Given the description of an element on the screen output the (x, y) to click on. 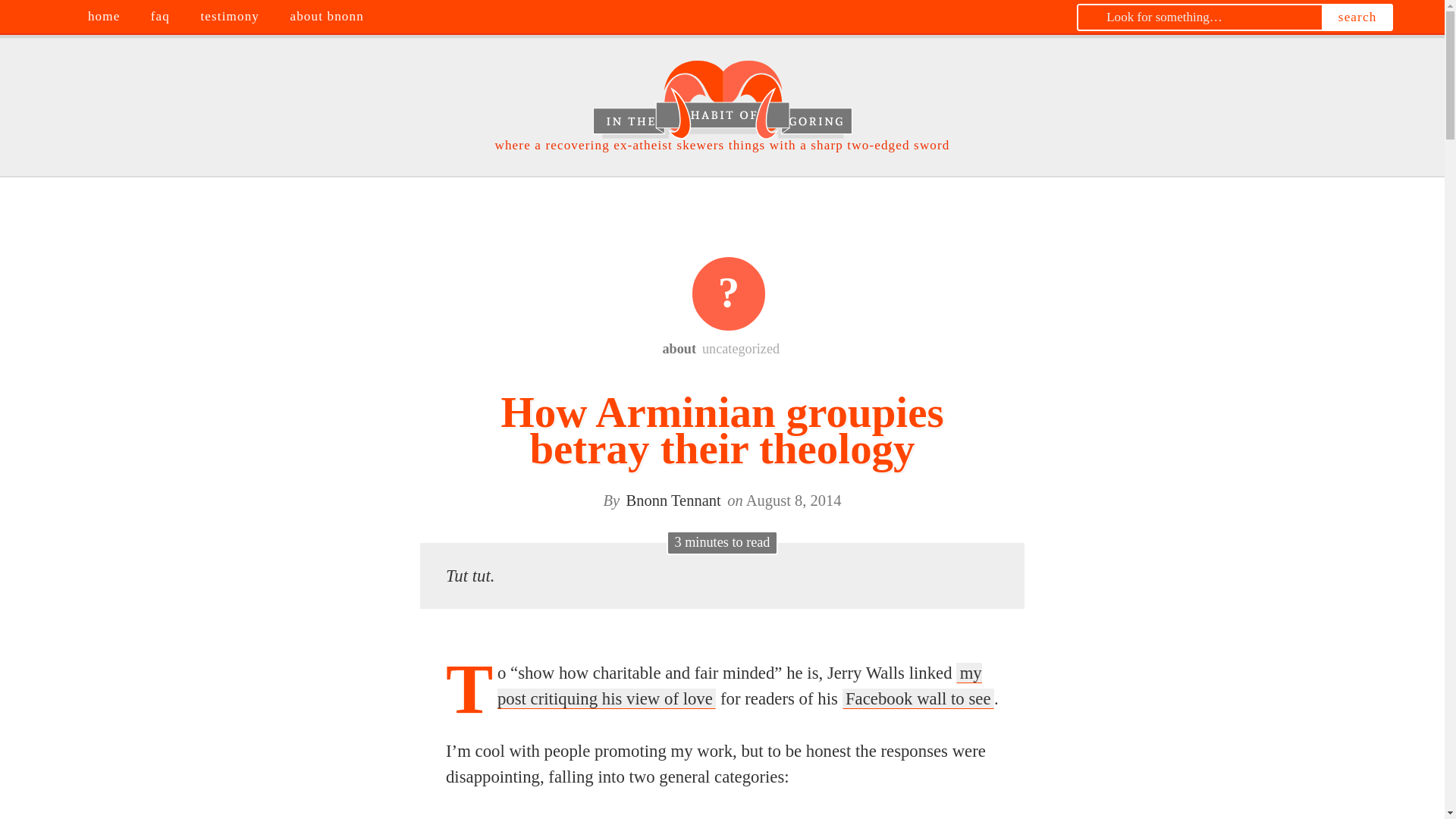
my post critiquing his view of love (739, 685)
Bnonn Tennant (673, 500)
testimony (231, 16)
faq (161, 16)
search (1357, 17)
uncategorized (729, 293)
Facebook wall to see (918, 698)
uncategorized (741, 348)
about bnonn (328, 16)
home (105, 16)
